Given the description of an element on the screen output the (x, y) to click on. 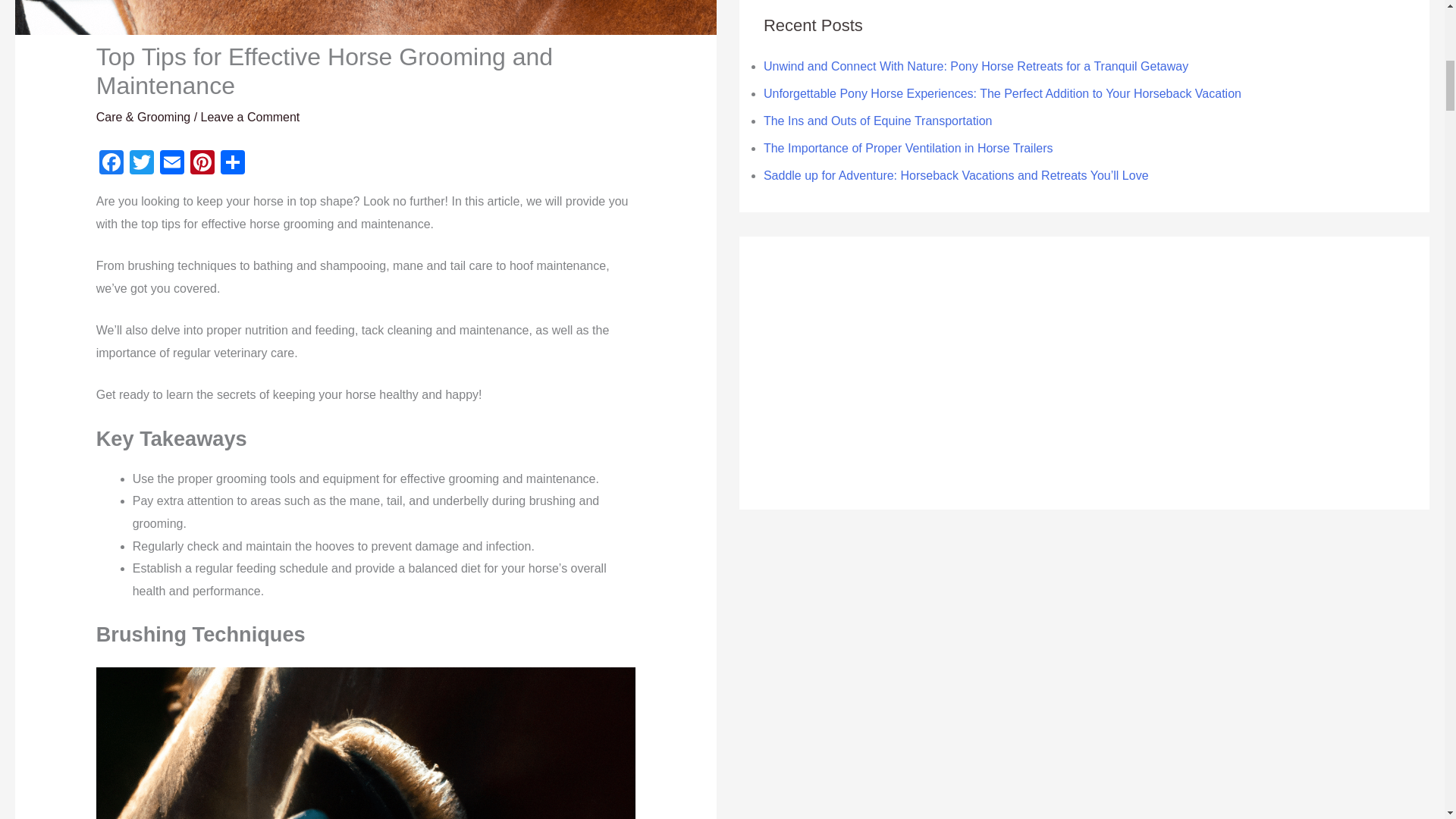
Email (172, 163)
Pinterest (201, 163)
Pinterest (201, 163)
Twitter (141, 163)
Twitter (141, 163)
Leave a Comment (249, 116)
Facebook (111, 163)
Email (172, 163)
Facebook (111, 163)
